Given the description of an element on the screen output the (x, y) to click on. 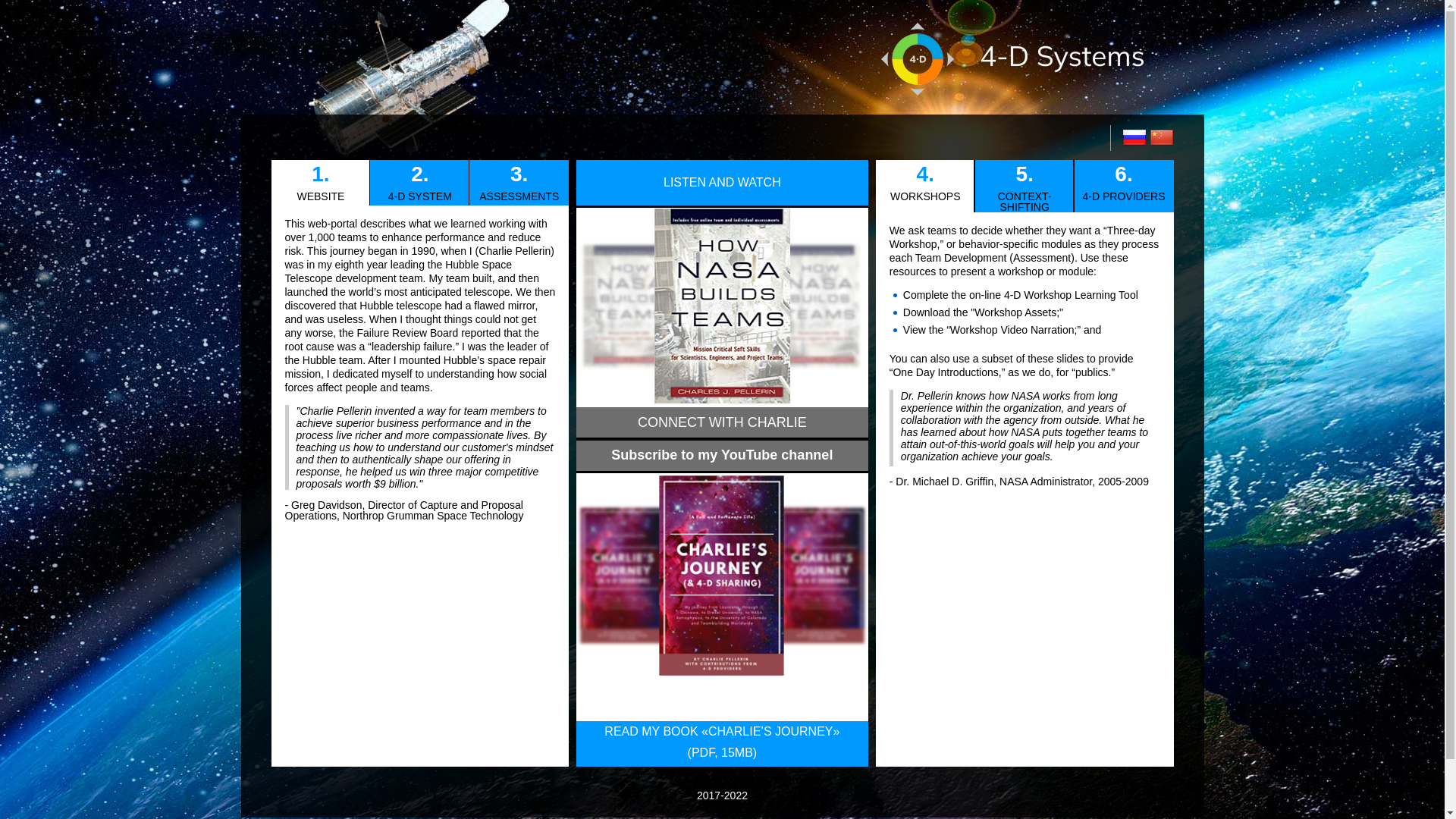
Subscribe to my YouTube channel Element type: text (721, 454)
CONNECT WITH CHARLIE Element type: text (721, 423)
